Given the description of an element on the screen output the (x, y) to click on. 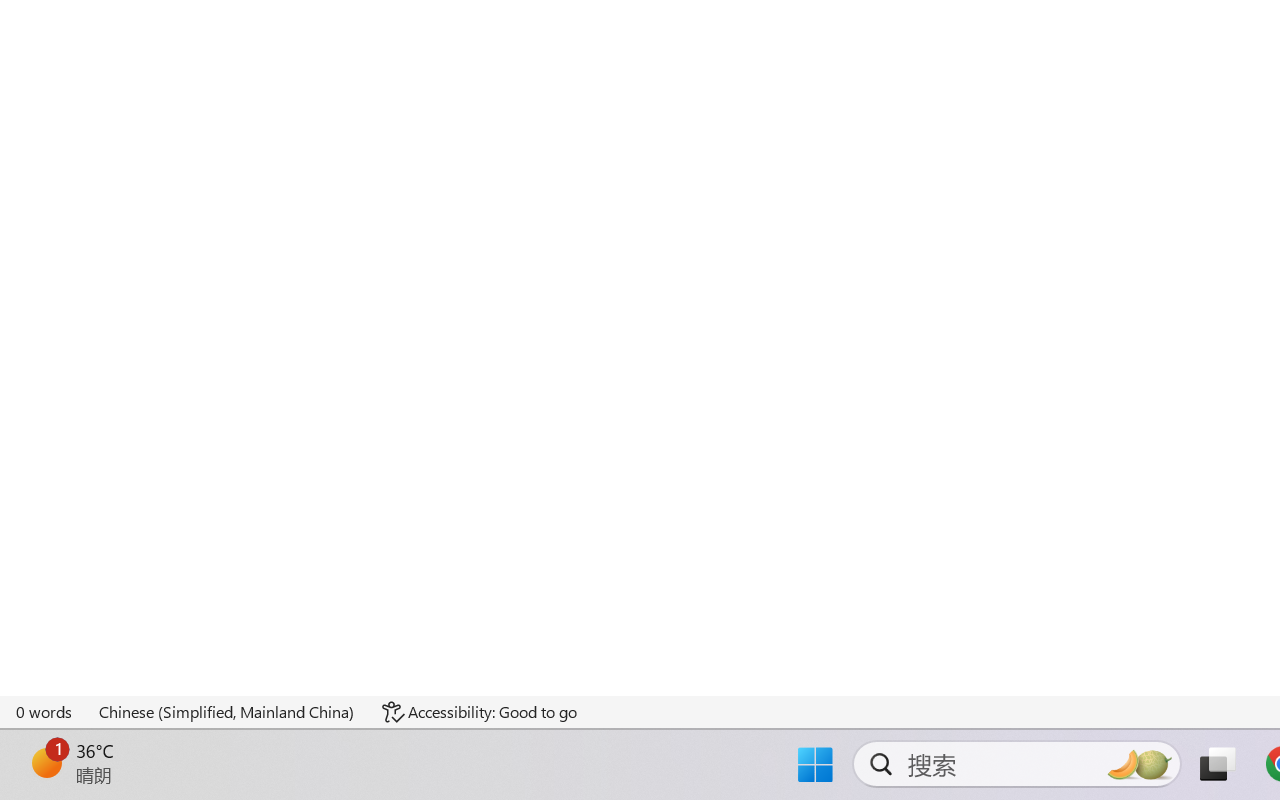
Language Chinese (Simplified, Mainland China) (227, 712)
